Given the description of an element on the screen output the (x, y) to click on. 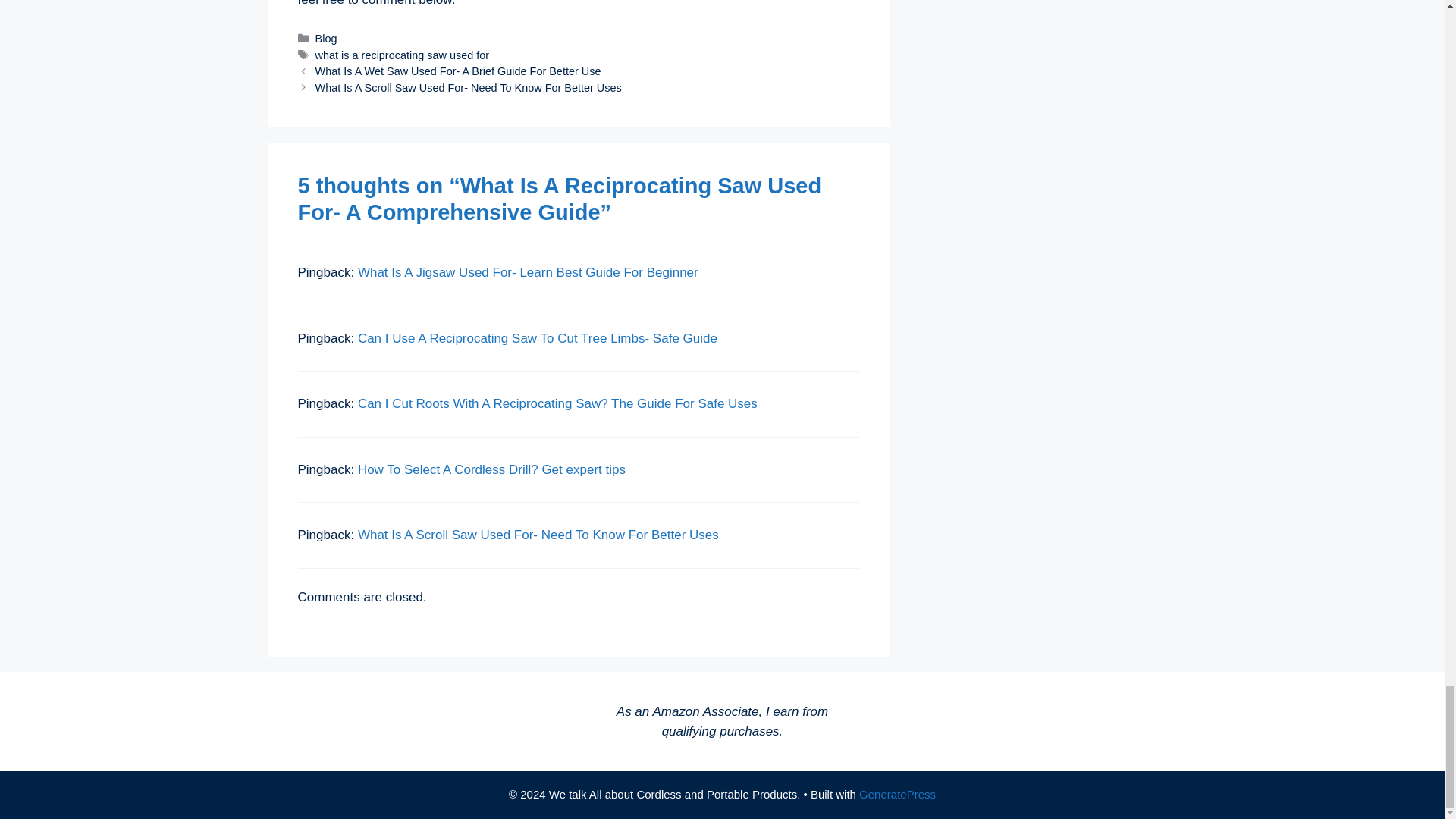
Blog (326, 38)
what is a reciprocating saw used for (402, 55)
How To Select A Cordless Drill? Get expert tips (492, 469)
Can I Use A Reciprocating Saw To Cut Tree Limbs- Safe Guide (537, 338)
What Is A Scroll Saw Used For- Need To Know For Better Uses (468, 87)
What Is A Wet Saw Used For- A Brief Guide For Better Use (458, 70)
What Is A Jigsaw Used For- Learn Best Guide For Beginner (528, 272)
What Is A Scroll Saw Used For- Need To Know For Better Uses (538, 534)
